Given the description of an element on the screen output the (x, y) to click on. 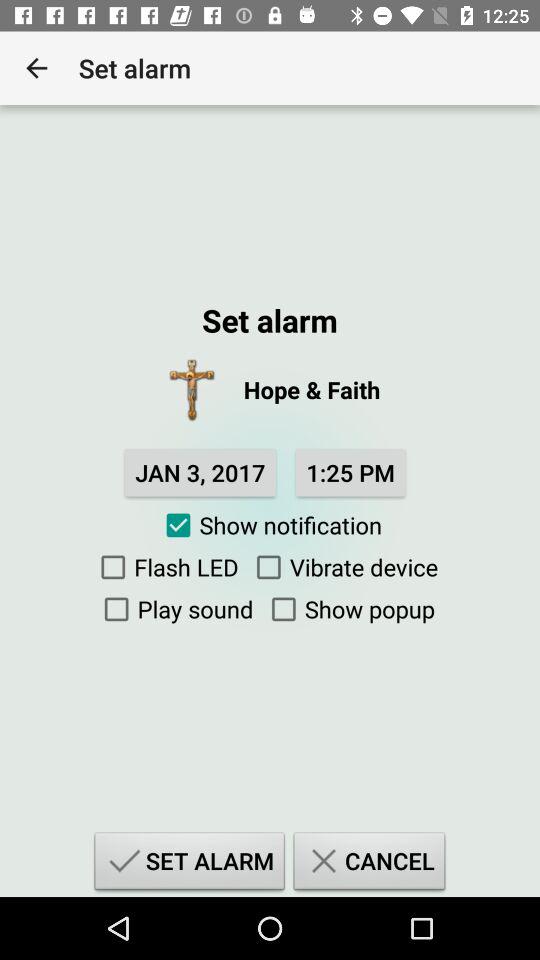
turn on play sound item (174, 609)
